Given the description of an element on the screen output the (x, y) to click on. 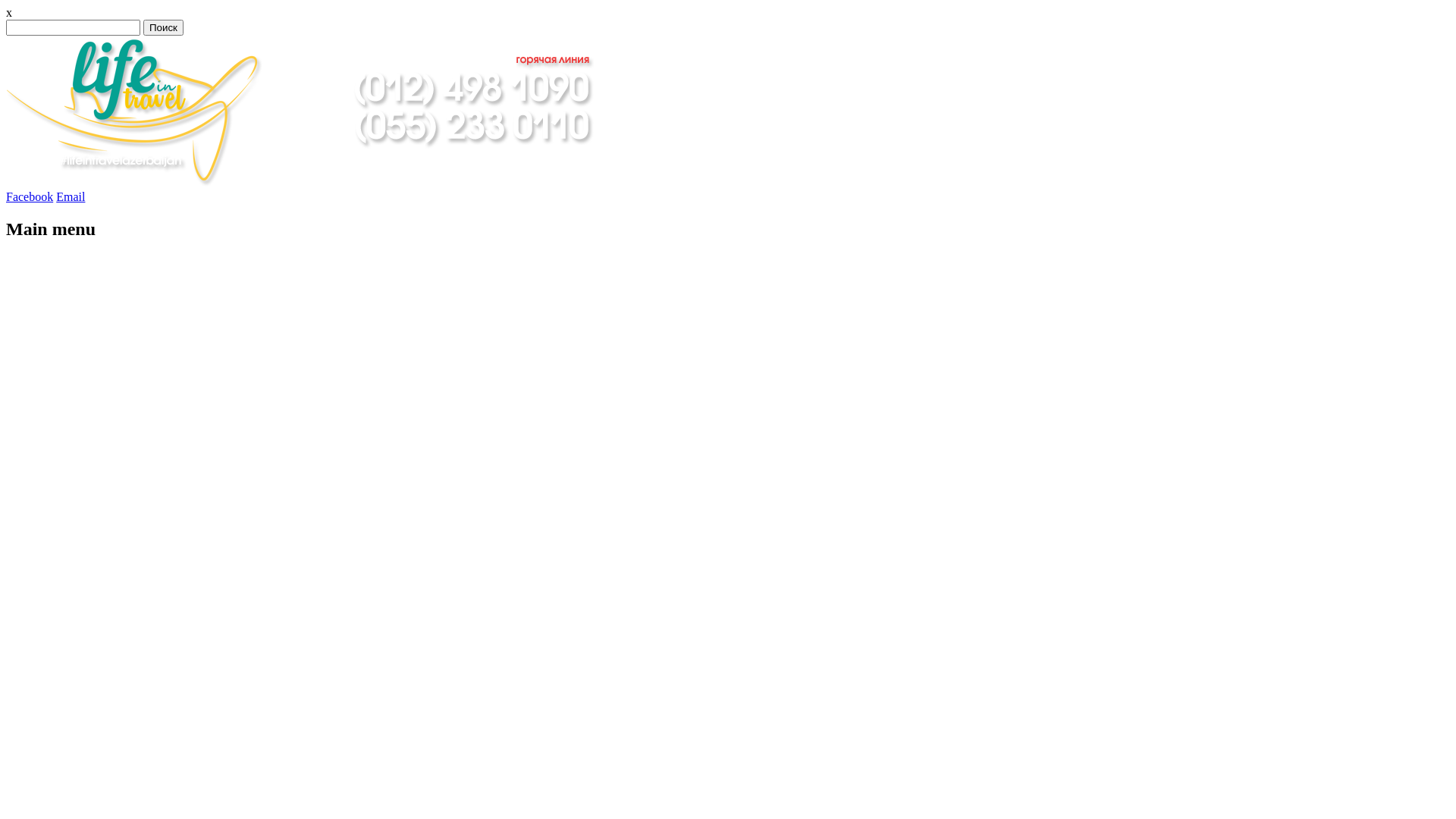
Facebook Element type: text (29, 196)
"LifeInTravel" Travel Agency Azerbaijan Element type: hover (309, 182)
Skip to content Element type: text (22, 274)
Email Element type: text (70, 196)
